Given the description of an element on the screen output the (x, y) to click on. 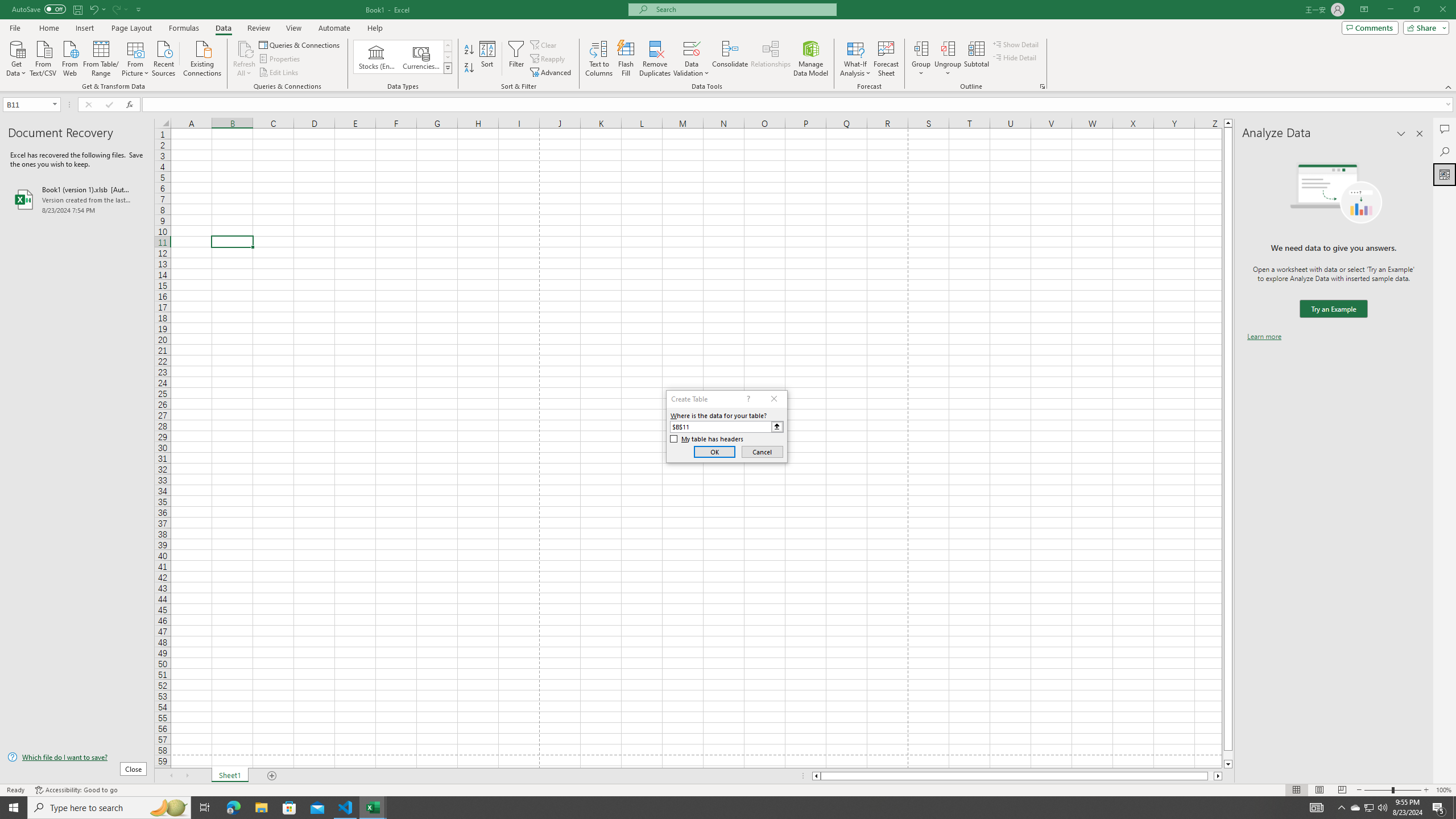
Currencies (English) (420, 56)
Existing Connections (202, 57)
Reapply (548, 58)
Data Types (448, 67)
From Picture (135, 57)
From Text/CSV (43, 57)
Consolidate... (729, 58)
